Given the description of an element on the screen output the (x, y) to click on. 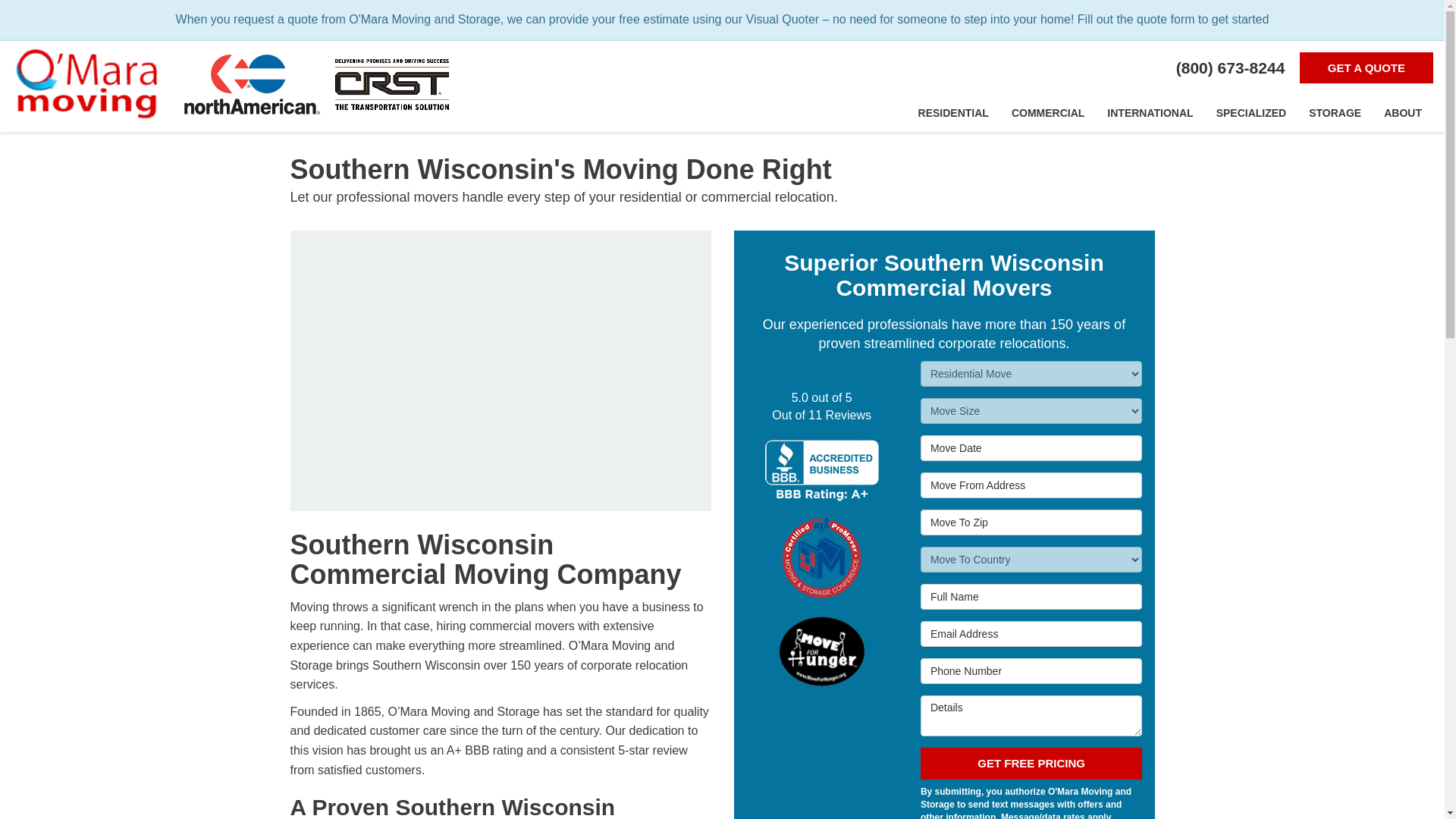
INTERNATIONAL (1150, 112)
GET A QUOTE (1366, 67)
SPECIALIZED (1251, 112)
ABOUT (1402, 112)
RESIDENTIAL (953, 112)
COMMERCIAL (1048, 112)
STORAGE (1335, 112)
GET A QUOTE (1366, 67)
